Given the description of an element on the screen output the (x, y) to click on. 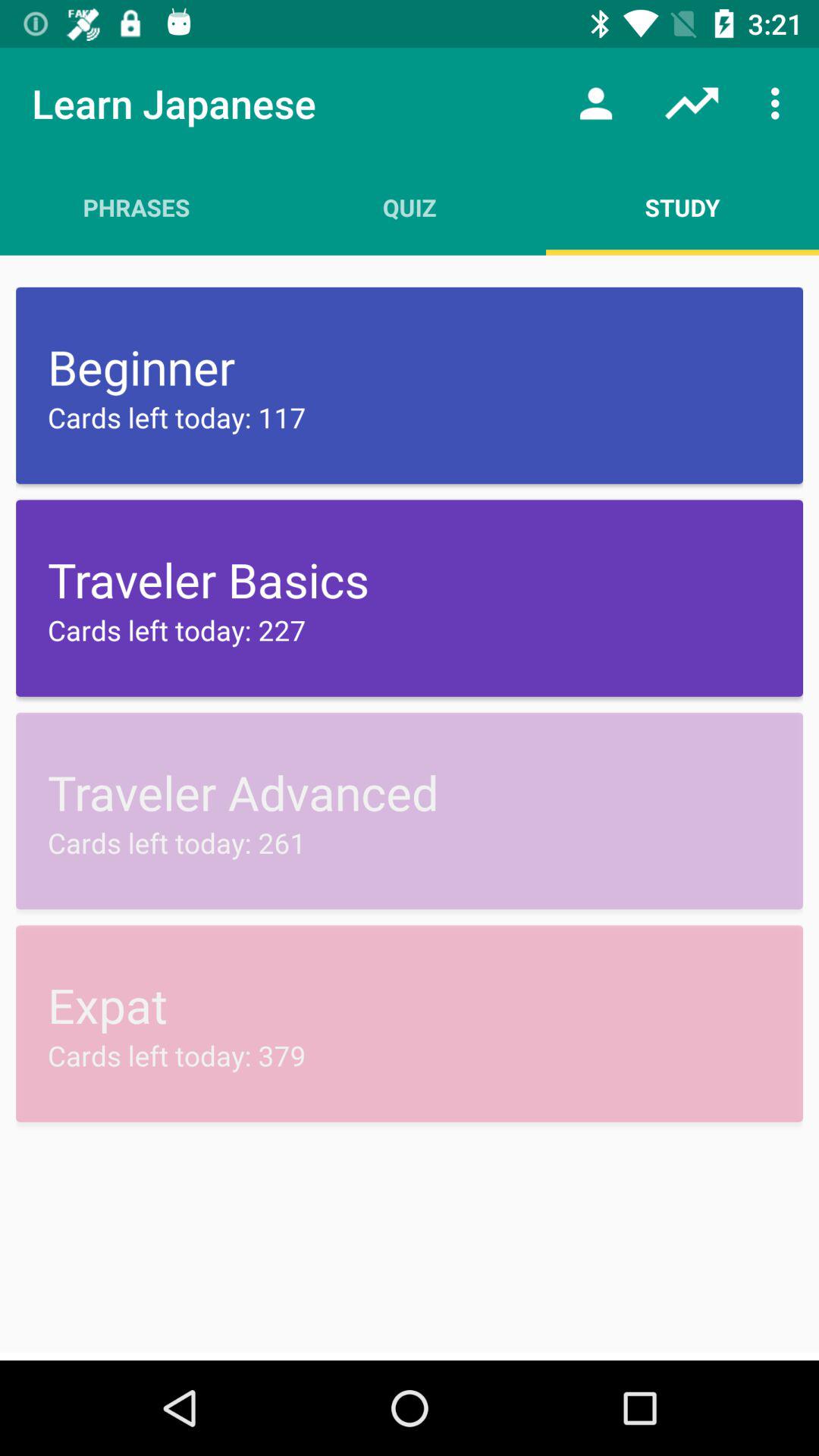
click item next to quiz item (682, 207)
